Given the description of an element on the screen output the (x, y) to click on. 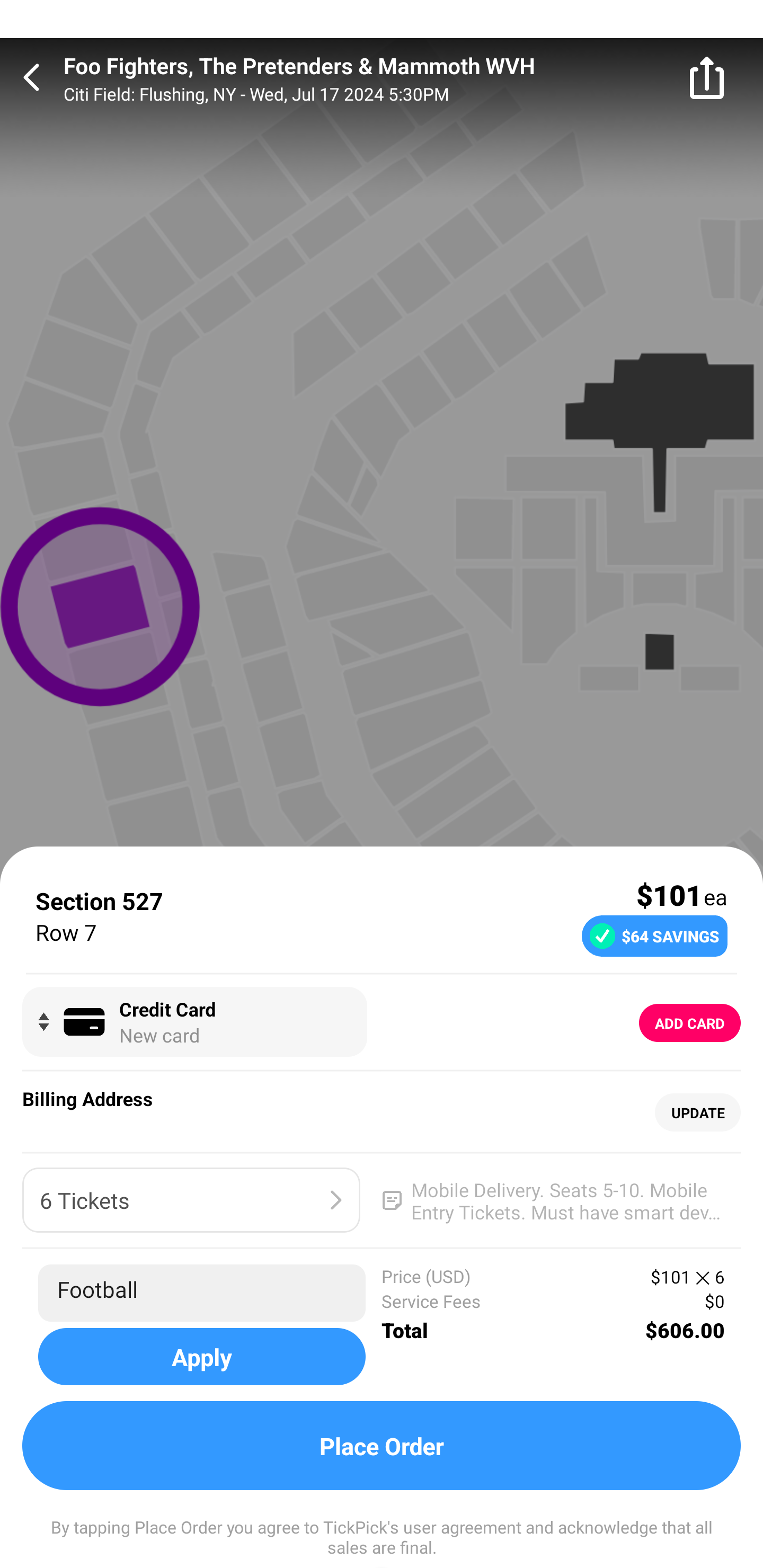
$64 SAVINGS (654, 935)
Credit Card, New card Credit Card New card (194, 1021)
ADD CARD (689, 1022)
UPDATE (697, 1112)
6 Tickets (191, 1200)
Football (201, 1292)
Apply (201, 1356)
Place Order (381, 1445)
